Given the description of an element on the screen output the (x, y) to click on. 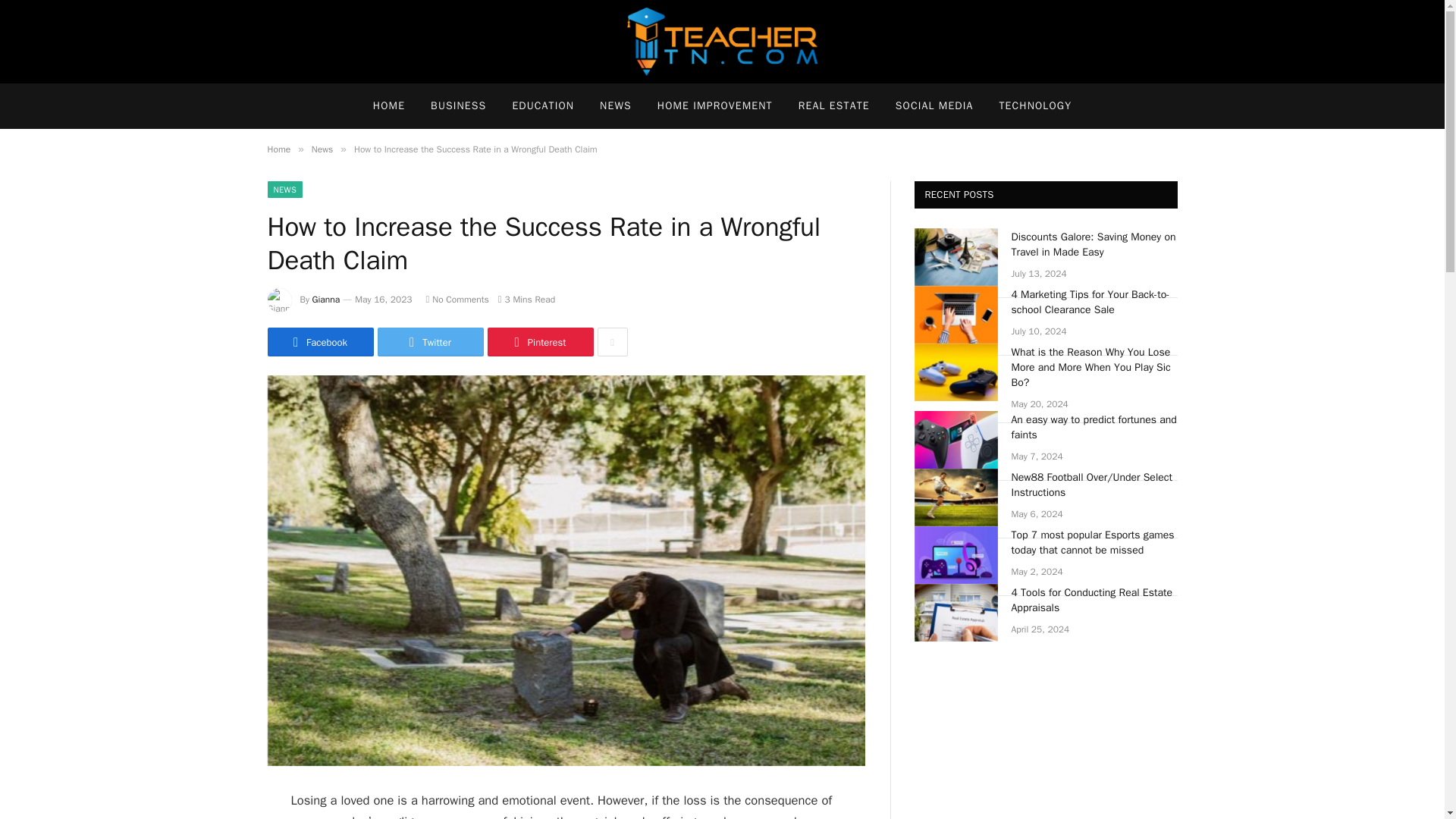
EDUCATION (542, 105)
News (322, 149)
REAL ESTATE (834, 105)
Teachertn (722, 41)
Gianna (326, 299)
Share on Facebook (319, 341)
HOME (388, 105)
SOCIAL MEDIA (934, 105)
Twitter (430, 341)
Pinterest (539, 341)
HOME IMPROVEMENT (715, 105)
Share on Pinterest (539, 341)
NEWS (284, 189)
TECHNOLOGY (1034, 105)
